Given the description of an element on the screen output the (x, y) to click on. 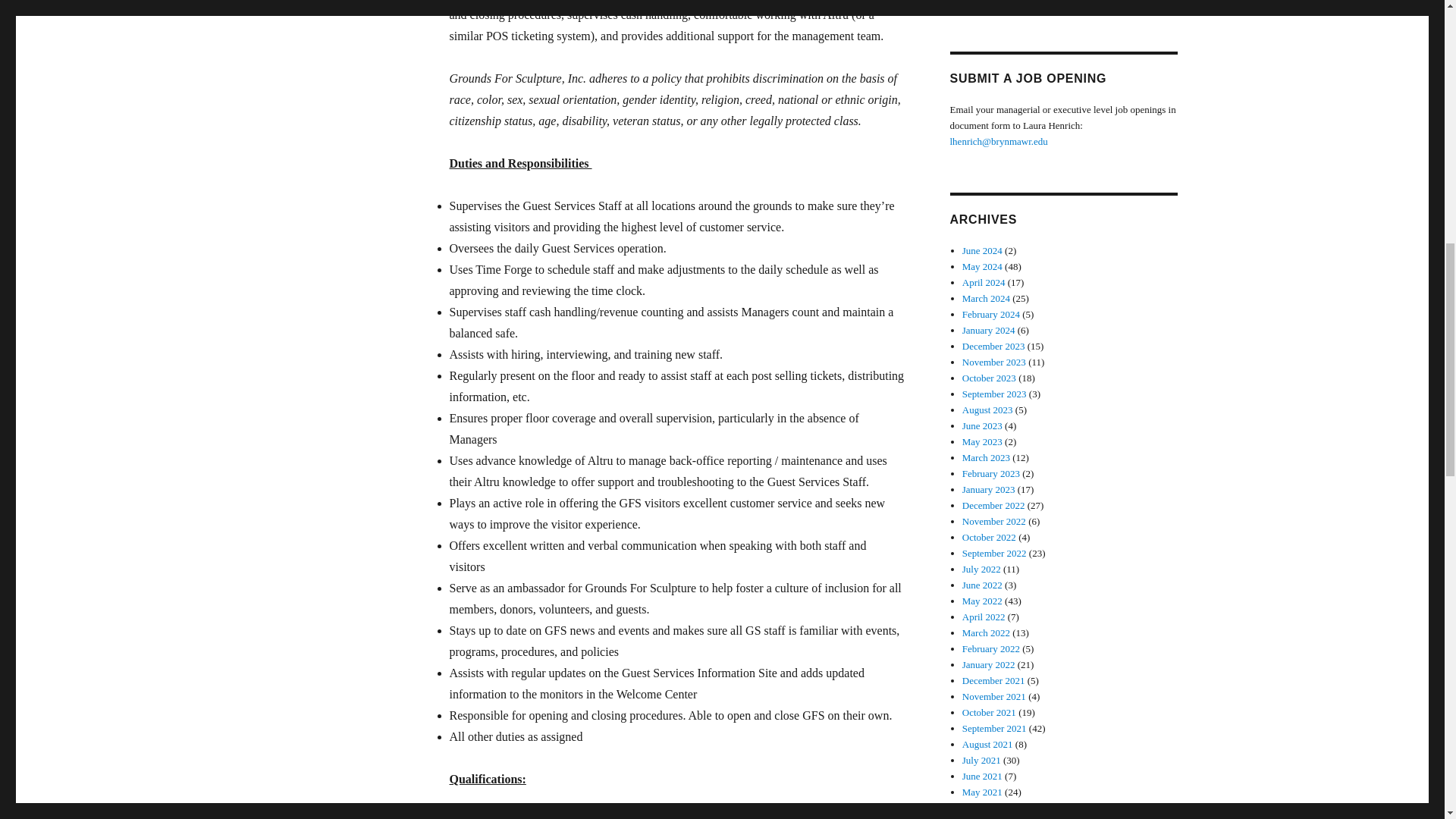
October 2022 (989, 536)
January 2024 (988, 329)
May 2024 (982, 266)
June 2024 (982, 250)
January 2023 (988, 489)
November 2022 (994, 521)
March 2023 (986, 457)
June 2023 (982, 425)
December 2023 (993, 346)
March 2024 (986, 297)
June 2022 (982, 584)
February 2023 (991, 473)
Idealist.org (984, 2)
November 2023 (994, 361)
April 2024 (984, 282)
